Given the description of an element on the screen output the (x, y) to click on. 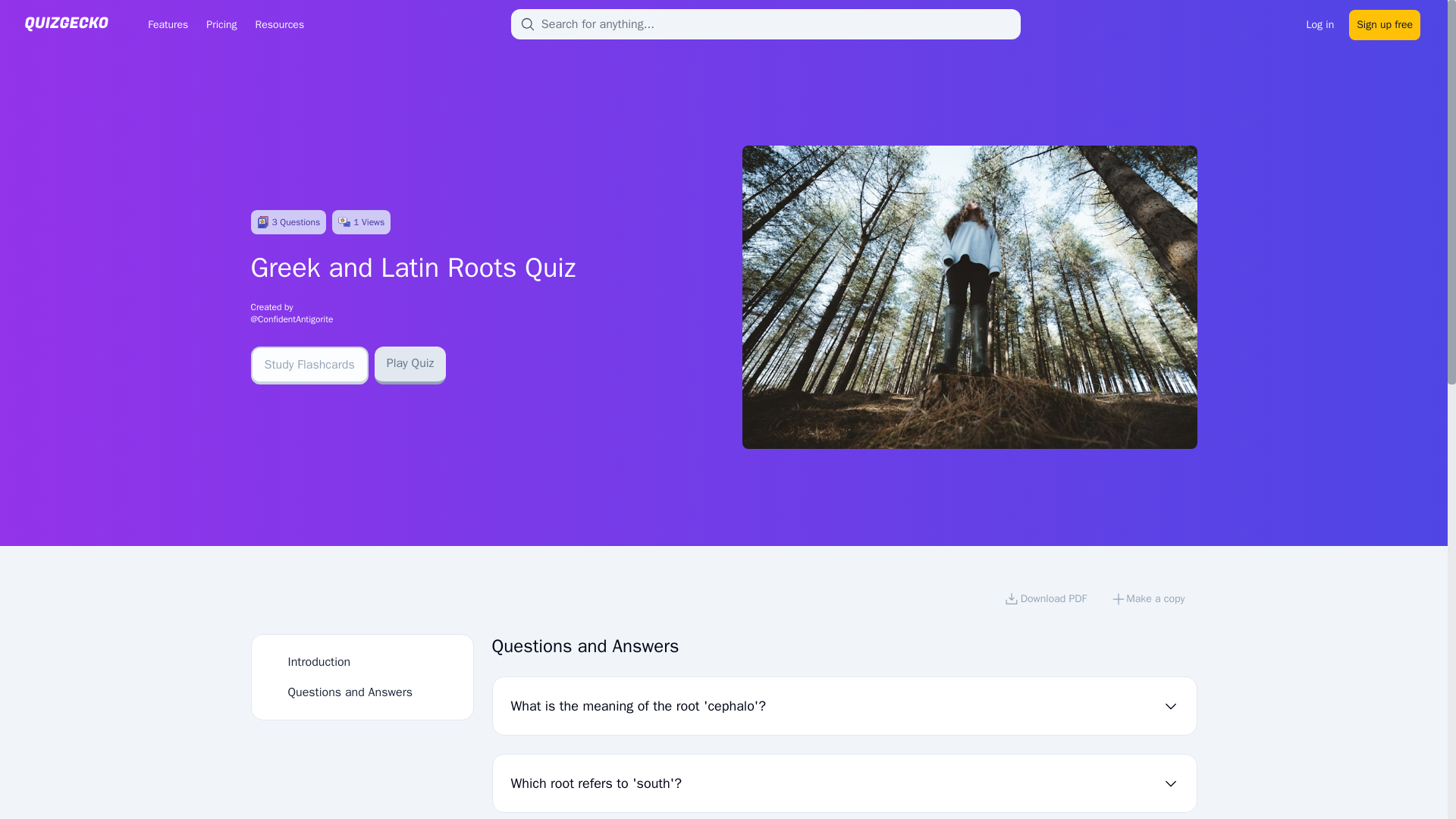
Download PDF (1045, 600)
Pricing (221, 23)
Study Flashcards (309, 365)
Introduction (319, 661)
Play Quiz (410, 365)
Log in (1320, 23)
Features (167, 23)
Resources (279, 23)
Sign up free (1384, 23)
Make a copy (1147, 600)
